Given the description of an element on the screen output the (x, y) to click on. 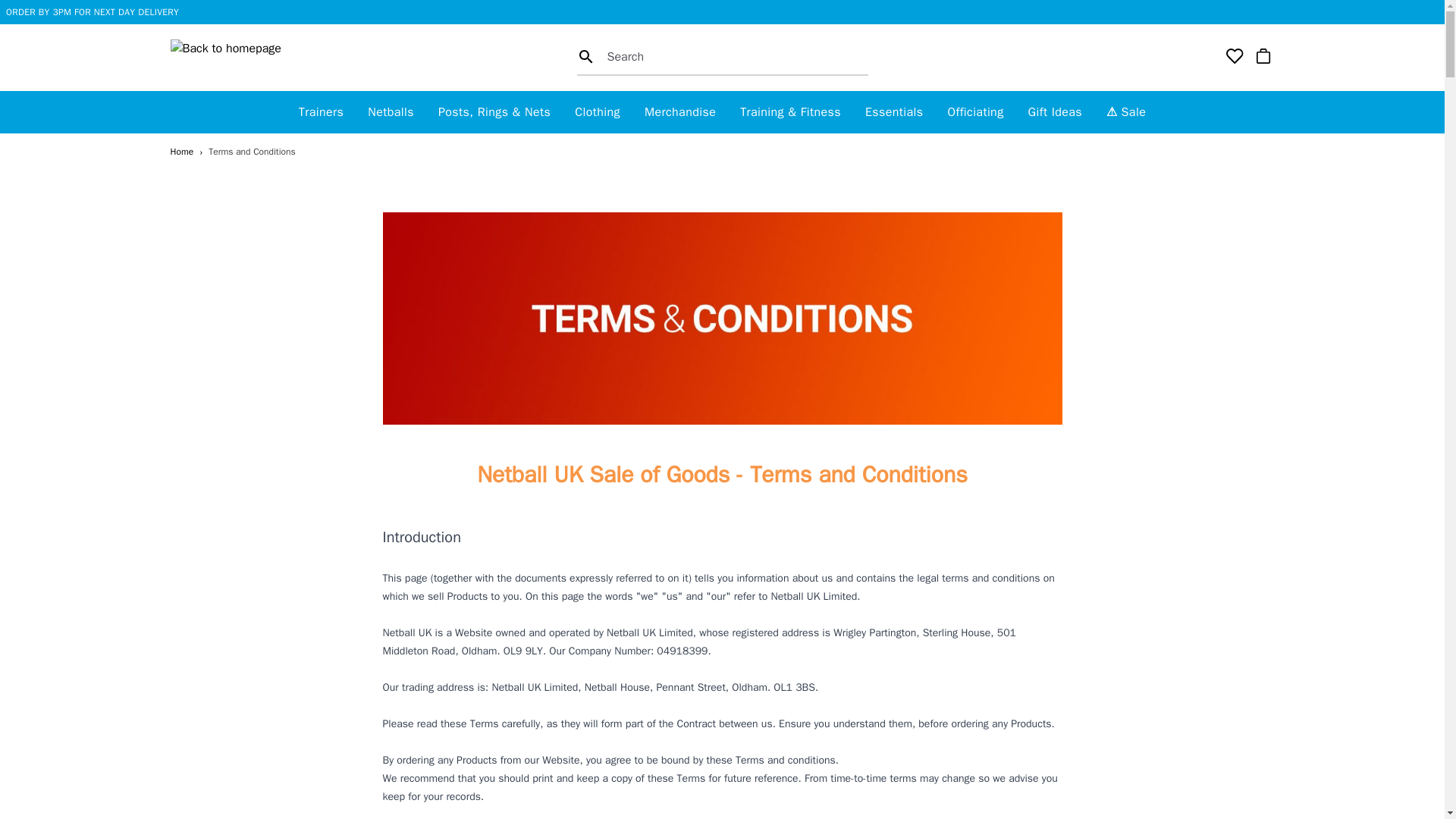
Netballs (390, 111)
Trainers (320, 111)
Back to homepage (242, 57)
